Given the description of an element on the screen output the (x, y) to click on. 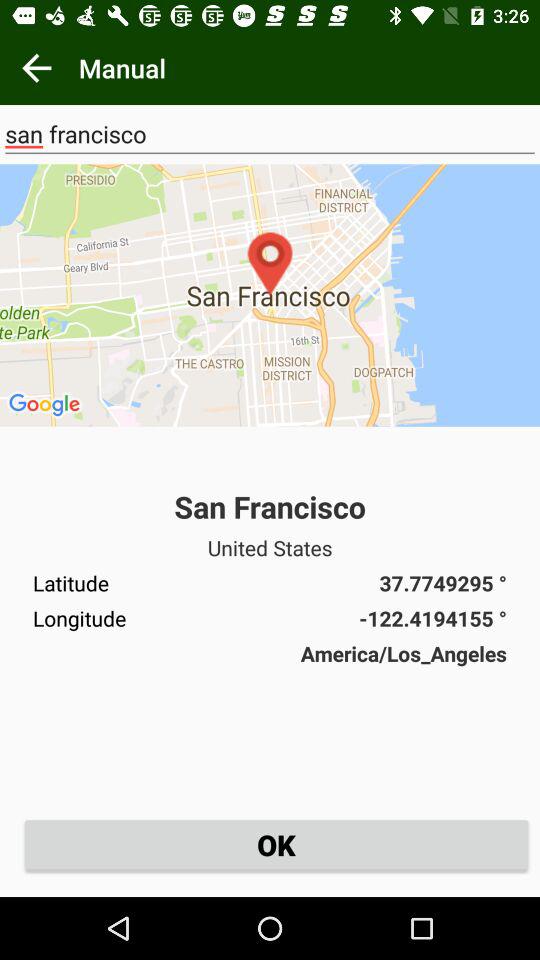
select the item to the left of manual app (36, 68)
